Given the description of an element on the screen output the (x, y) to click on. 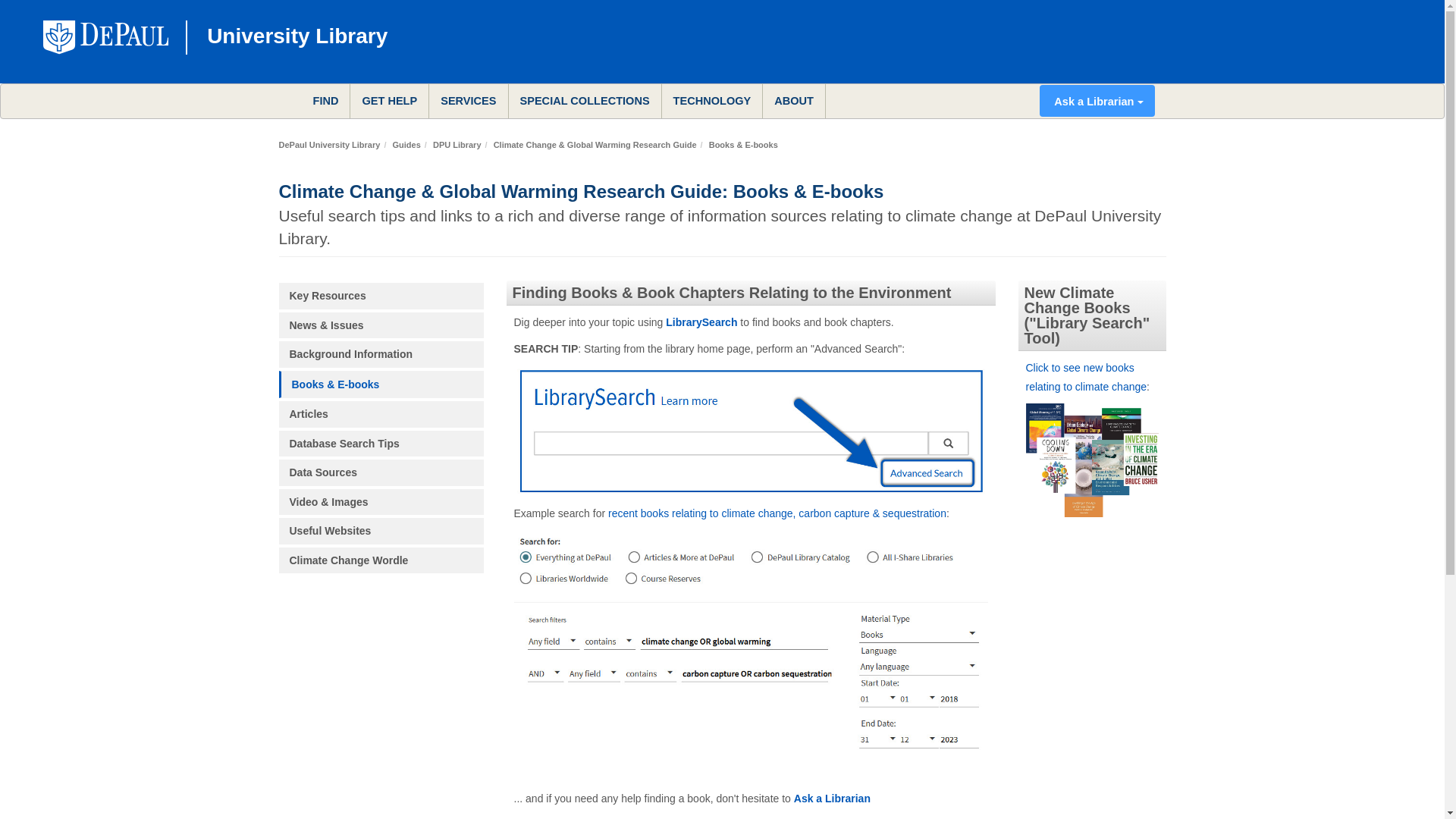
Data Sources (381, 472)
DPU Library (456, 144)
LibrarySearch (700, 322)
SPECIAL COLLECTIONS (584, 100)
Ask a Librarian (831, 798)
TECHNOLOGY (712, 100)
Ask a Librarian (1096, 101)
Guides (406, 144)
Click to see new books relating to climate change (1086, 377)
SERVICES (467, 100)
FIND (325, 100)
ABOUT (793, 100)
Useful Websites (381, 530)
DePaul University Library (329, 144)
Key Resources (381, 295)
